Given the description of an element on the screen output the (x, y) to click on. 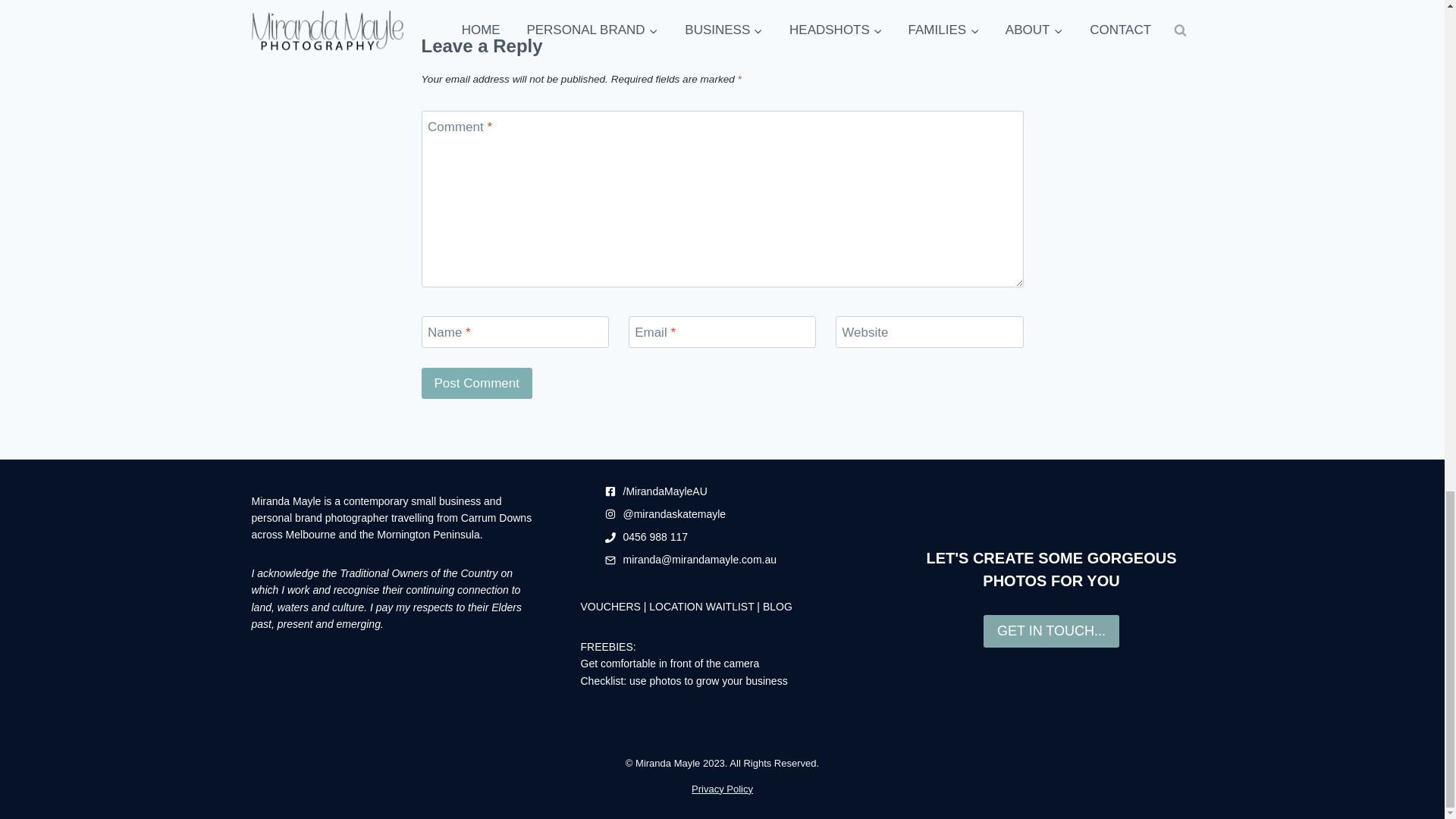
Post Comment (477, 382)
